Given the description of an element on the screen output the (x, y) to click on. 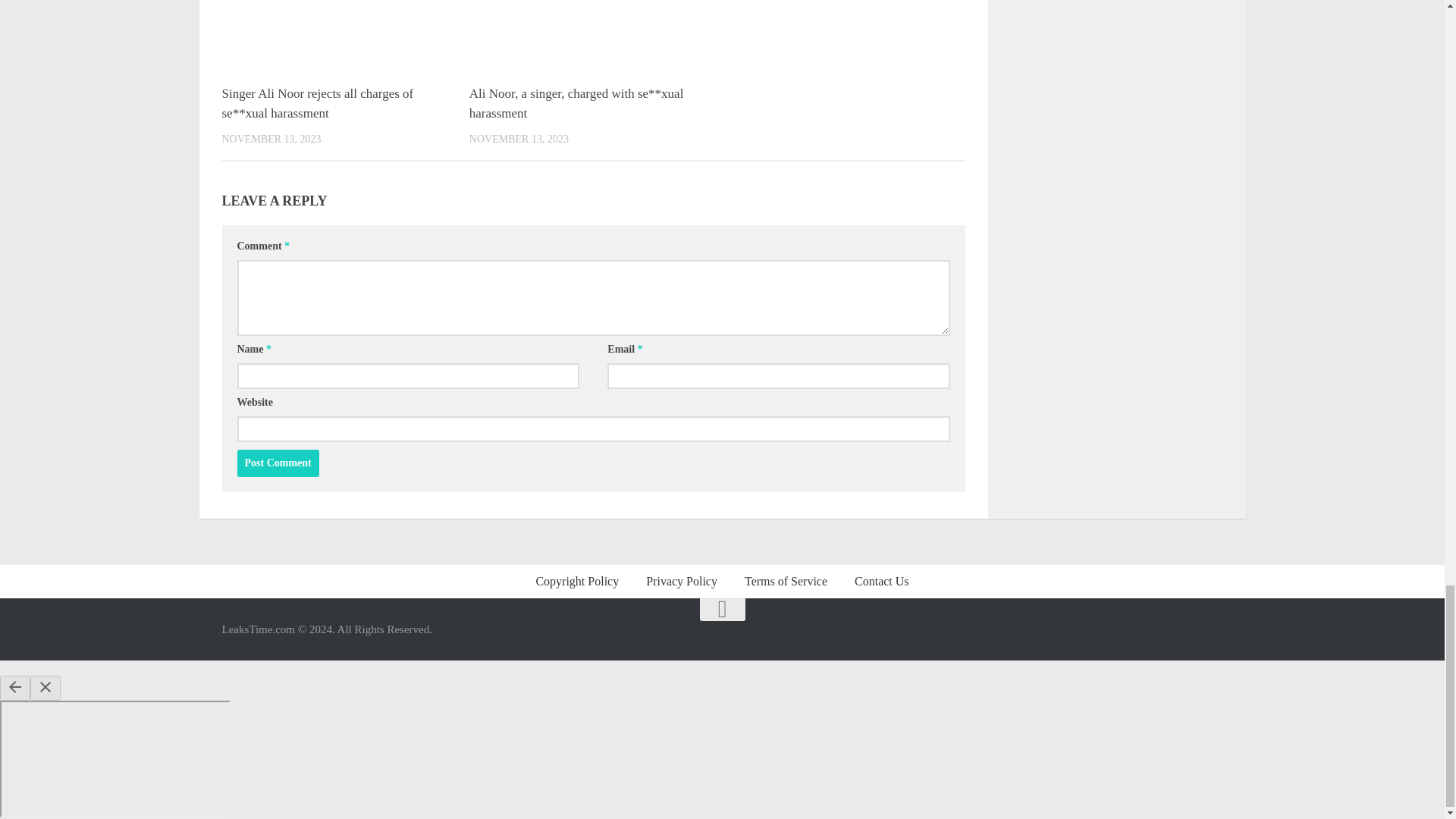
Post Comment (276, 462)
